Given the description of an element on the screen output the (x, y) to click on. 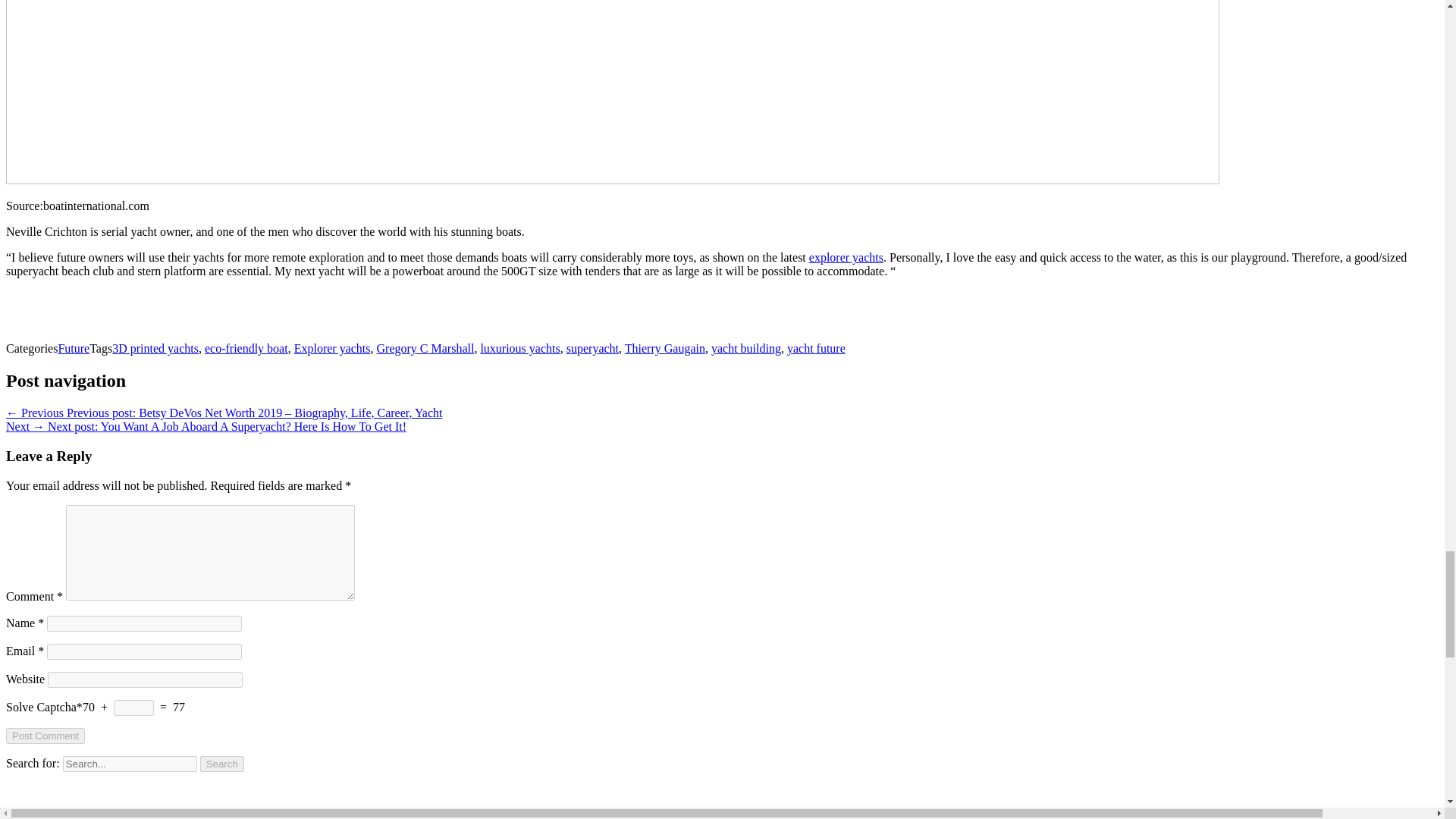
Post Comment (44, 735)
Search (222, 763)
Future (73, 348)
3D printed yachts (155, 348)
Search for: (129, 763)
Search (222, 763)
Search (222, 763)
Gregory C Marshall (425, 348)
yacht future (816, 348)
Explorer yachts (332, 348)
luxurious yachts (519, 348)
explorer yachts (846, 256)
Thierry Gaugain (664, 348)
superyacht (592, 348)
yacht building (745, 348)
